Given the description of an element on the screen output the (x, y) to click on. 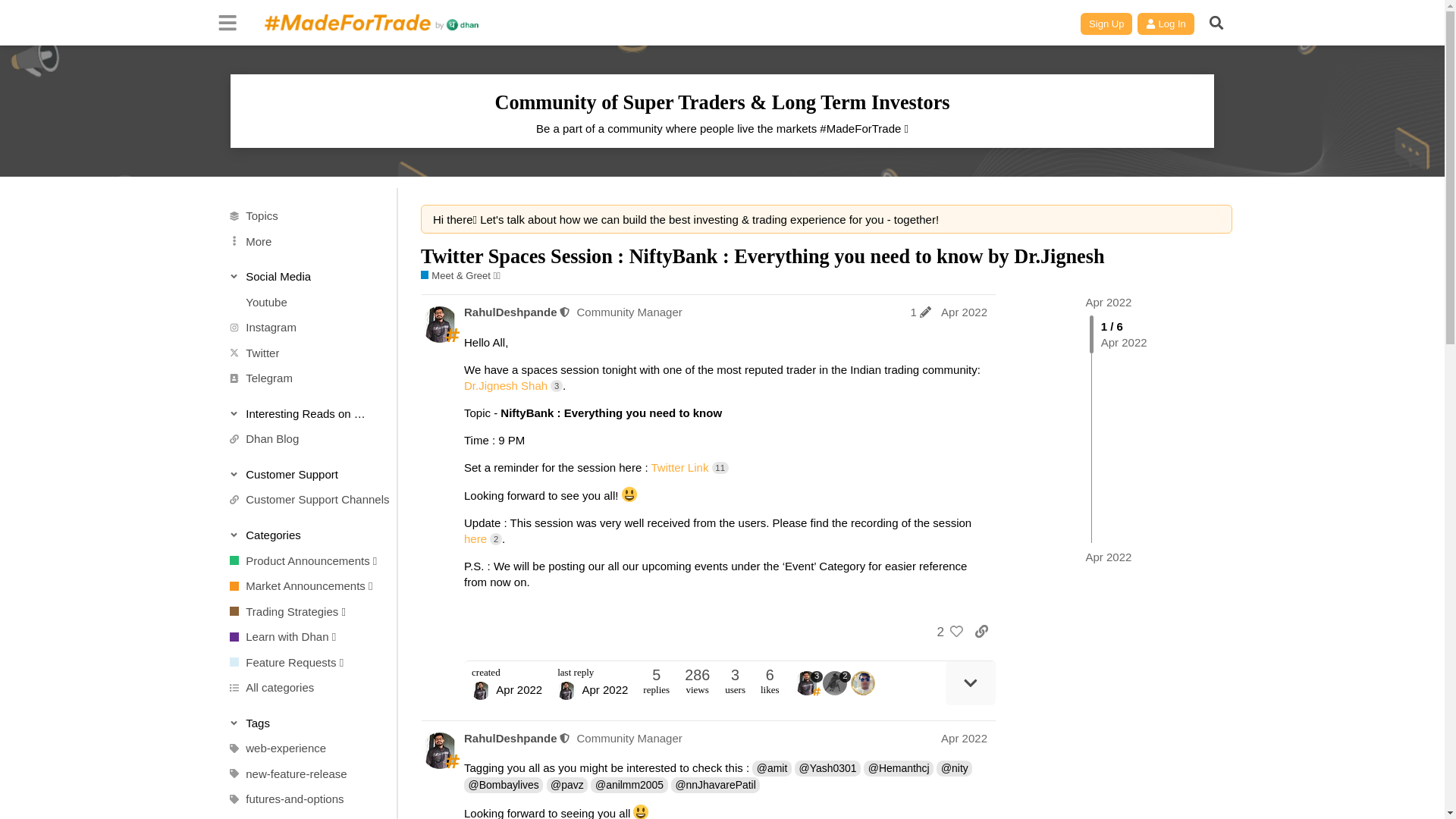
Toggle section (301, 412)
Social Media (301, 275)
Toggle section (301, 534)
futures-and-options (300, 799)
Telegram (300, 378)
More (300, 241)
Dhan Blog (300, 438)
Instagram (300, 327)
Interesting Reads on Markets (301, 412)
Toggle section (301, 473)
Customer Support Channels (307, 499)
Toggle section (301, 722)
web-experience (300, 748)
Stay up to date with all new markets regulations. (300, 586)
All categories (300, 687)
